Given the description of an element on the screen output the (x, y) to click on. 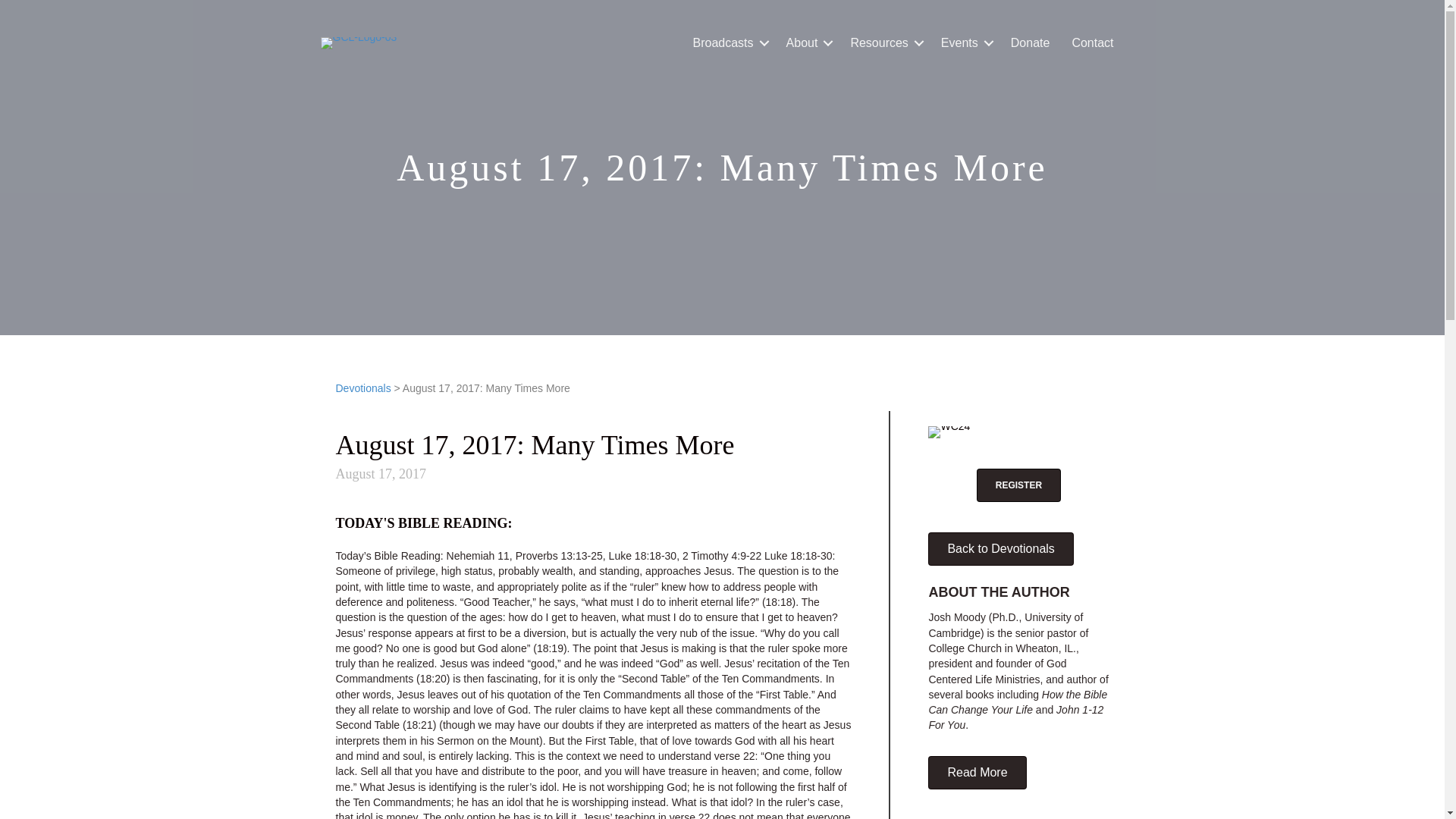
Luke 18:18-30 (798, 555)
Proverbs 13:13-25 (558, 555)
Resources (884, 42)
Luke 18:18-30 (642, 555)
Read More (977, 772)
GCL-Logo-03 (358, 42)
REGISTER (1018, 485)
Devotionals (362, 387)
About (808, 42)
Nehemiah 11 (477, 555)
